Given the description of an element on the screen output the (x, y) to click on. 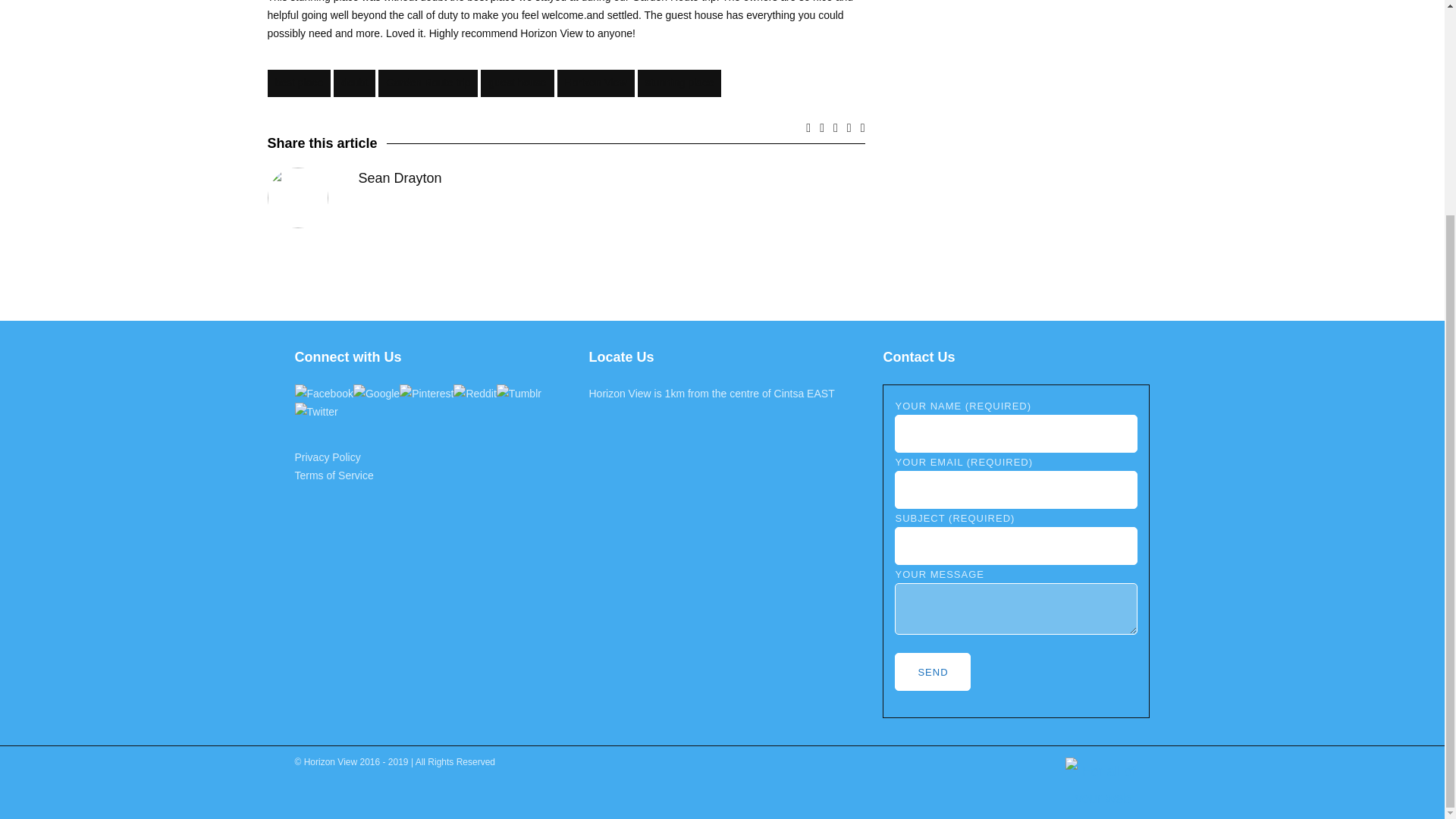
stunning place (678, 83)
Privacy Policy (326, 457)
Send (933, 671)
best place (298, 83)
Garden Route trip (427, 83)
doubt (354, 83)
Horizon View (595, 83)
Send (933, 671)
Terms of Service (333, 475)
guest house (516, 83)
